Given the description of an element on the screen output the (x, y) to click on. 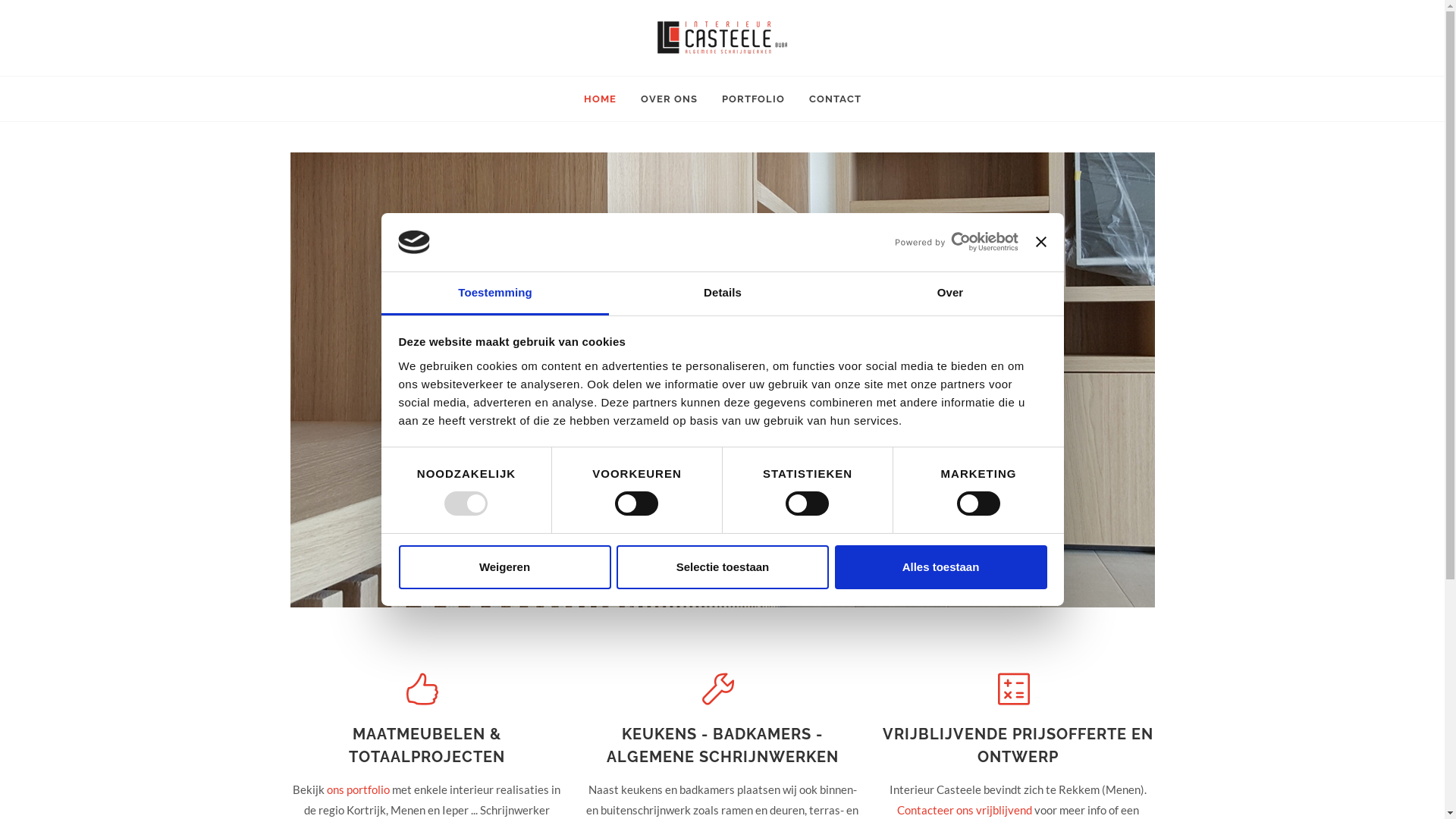
Details Element type: text (721, 293)
PORTFOLIO Element type: text (752, 99)
Over Element type: text (949, 293)
Weigeren Element type: text (504, 567)
Selectie toestaan Element type: text (721, 567)
OVER ONS Element type: text (669, 99)
Toestemming Element type: text (494, 293)
Alles toestaan Element type: text (940, 567)
Contacteer ons vrijblijvend Element type: text (964, 809)
CONTACT Element type: text (834, 99)
contacteer schrijnwerker Casteele te Rekkem, Menen Element type: hover (721, 379)
Schrijnwerken regio Kortrijk Menen Ieper Element type: hover (721, 37)
ons portfolio Element type: text (357, 789)
HOME Element type: text (599, 99)
